Given the description of an element on the screen output the (x, y) to click on. 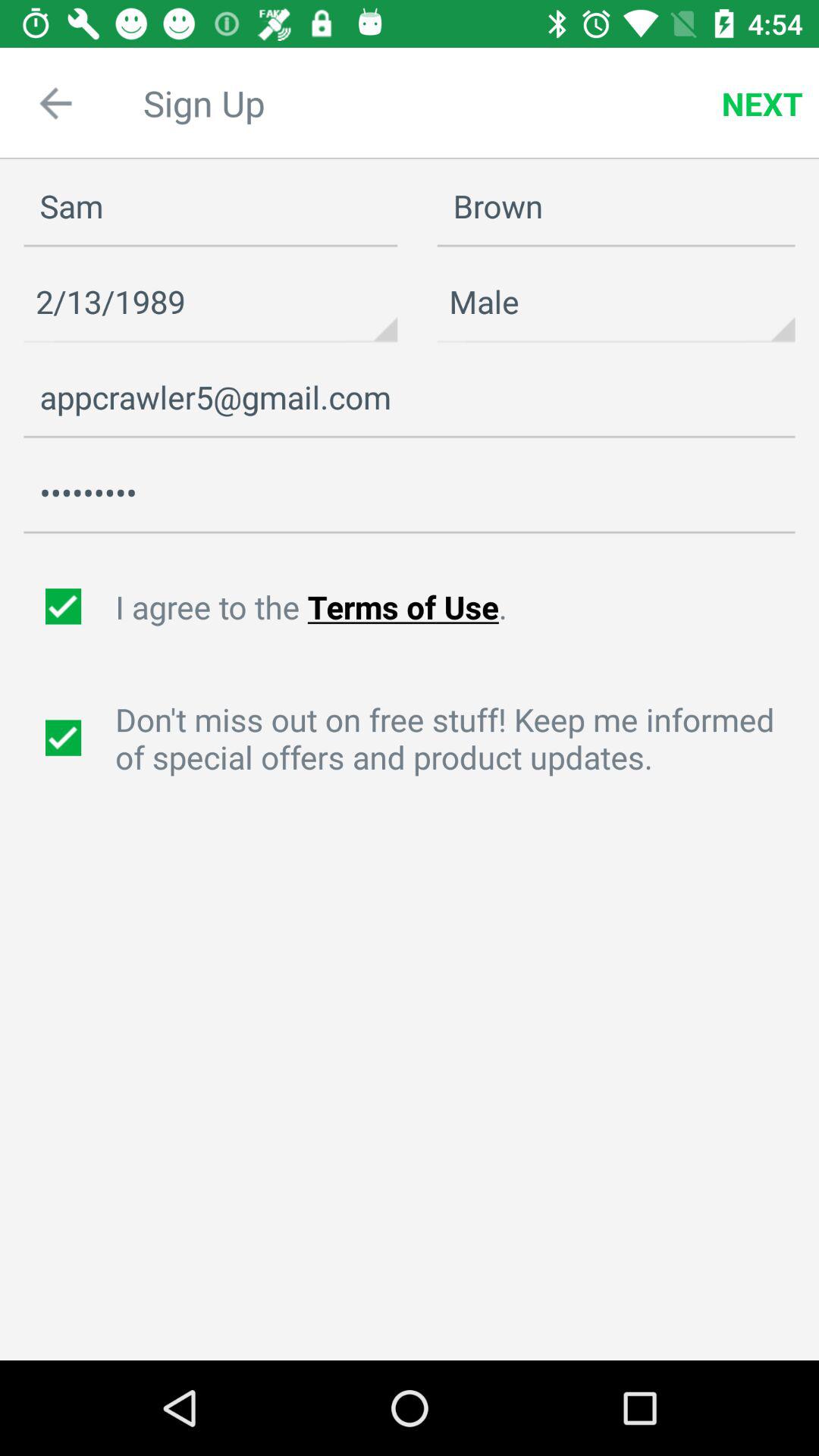
click on the second check box (65, 737)
click on the first name text box (210, 206)
select the text next to first check box (459, 606)
click on the email text field below 2131989 (409, 397)
select the text field 2131989 on the web page (210, 302)
click on icon on the left side of i agree to the terms of use (65, 606)
click on next (762, 103)
click on brown (616, 206)
